Given the description of an element on the screen output the (x, y) to click on. 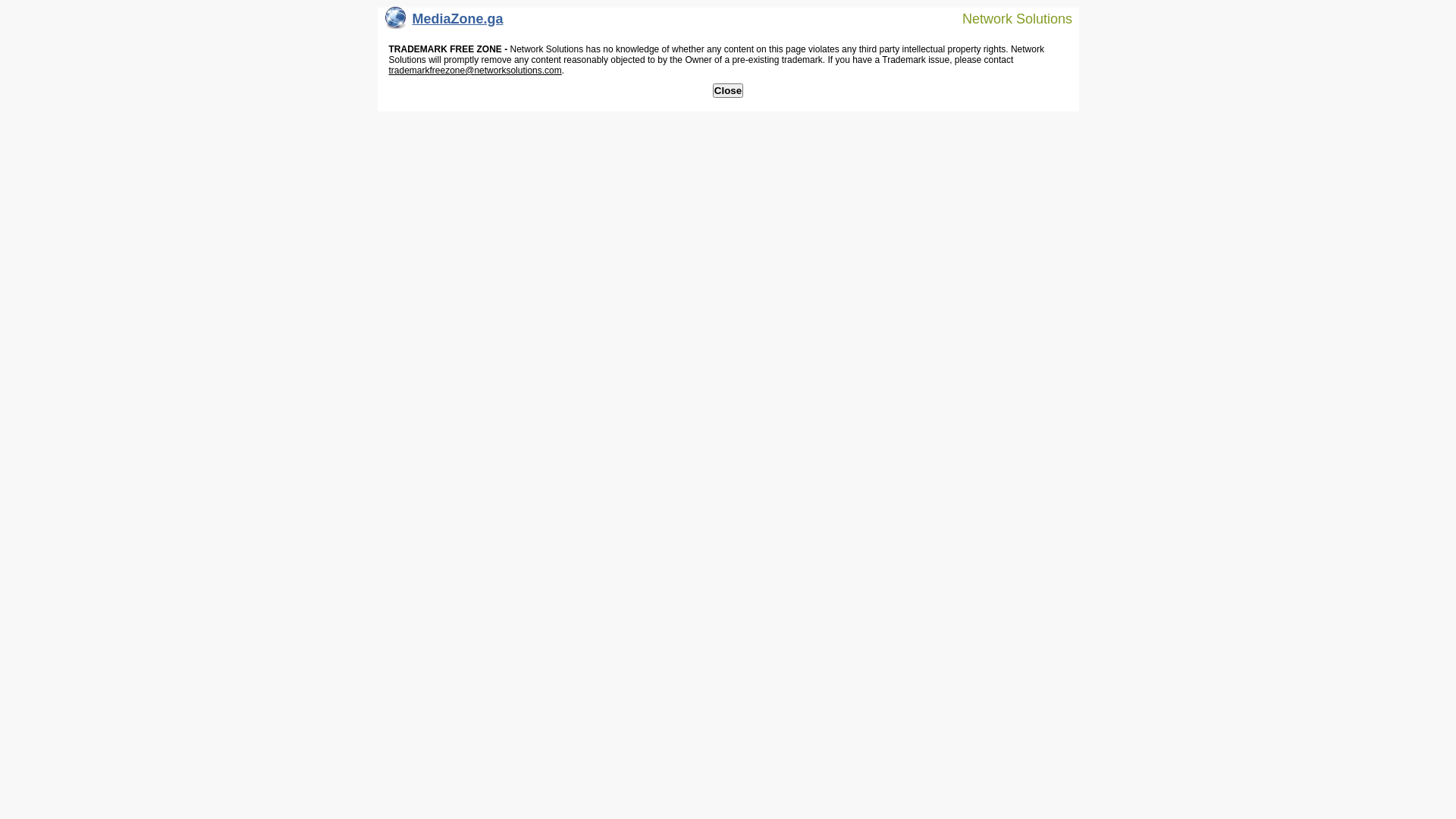
trademarkfreezone@networksolutions.com Element type: text (474, 70)
MediaZone.ga Element type: text (444, 21)
Close Element type: text (727, 90)
Network Solutions Element type: text (1007, 17)
